Given the description of an element on the screen output the (x, y) to click on. 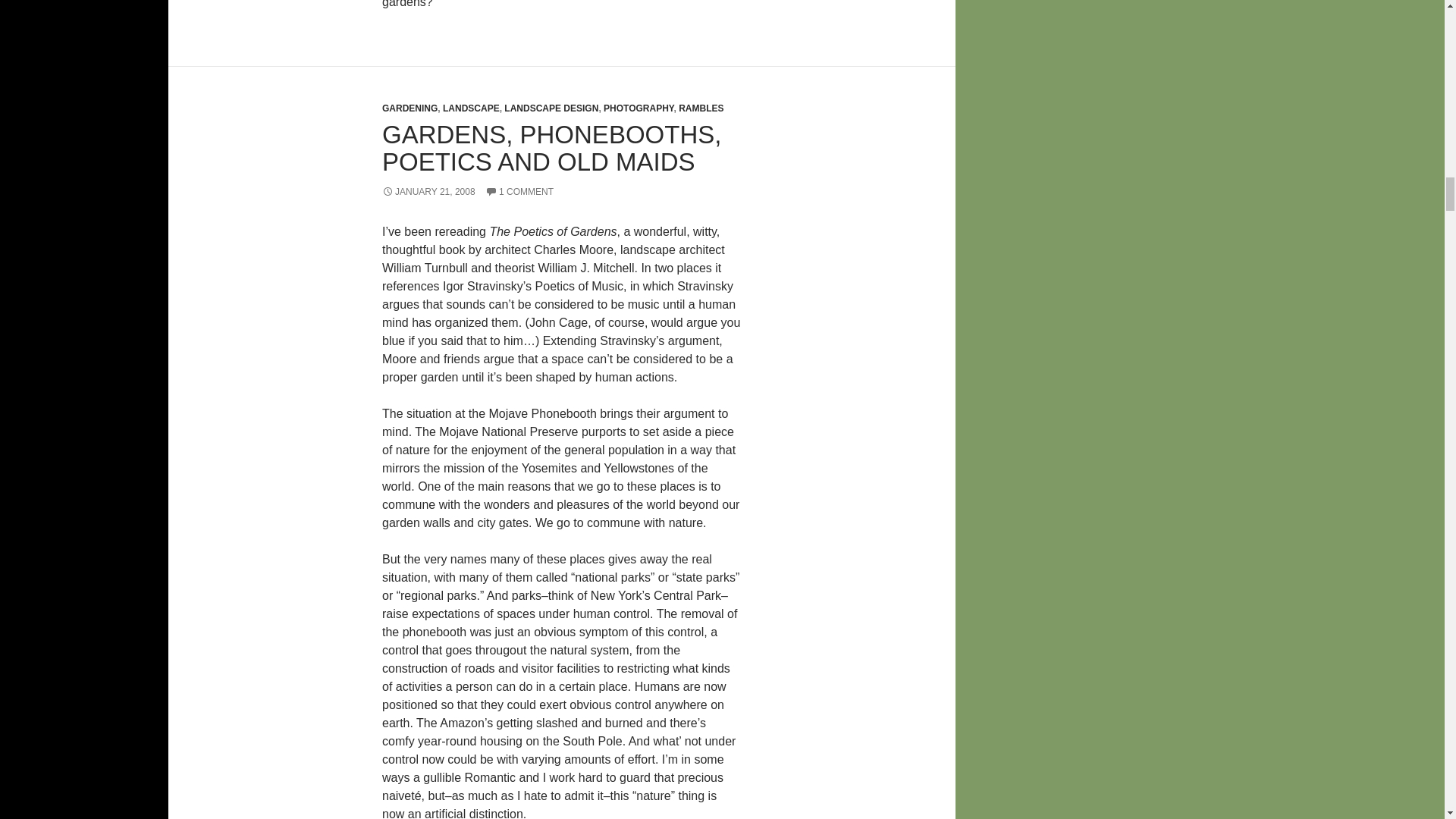
LANDSCAPE (470, 108)
RAMBLES (700, 108)
JANUARY 21, 2008 (428, 191)
PHOTOGRAPHY (638, 108)
GARDENING (409, 108)
1 COMMENT (518, 191)
LANDSCAPE DESIGN (550, 108)
GARDENS, PHONEBOOTHS, POETICS AND OLD MAIDS (550, 148)
